Given the description of an element on the screen output the (x, y) to click on. 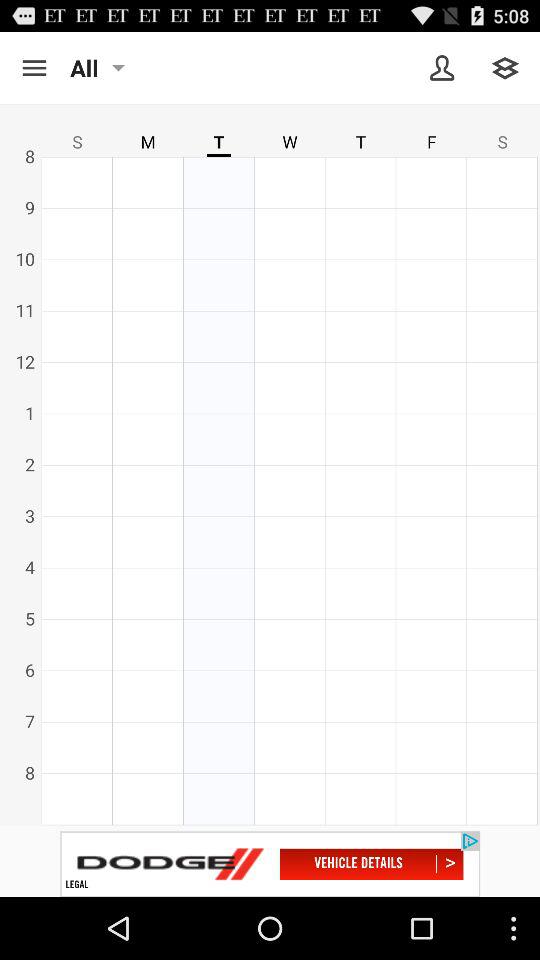
go to friends screen (442, 68)
